Given the description of an element on the screen output the (x, y) to click on. 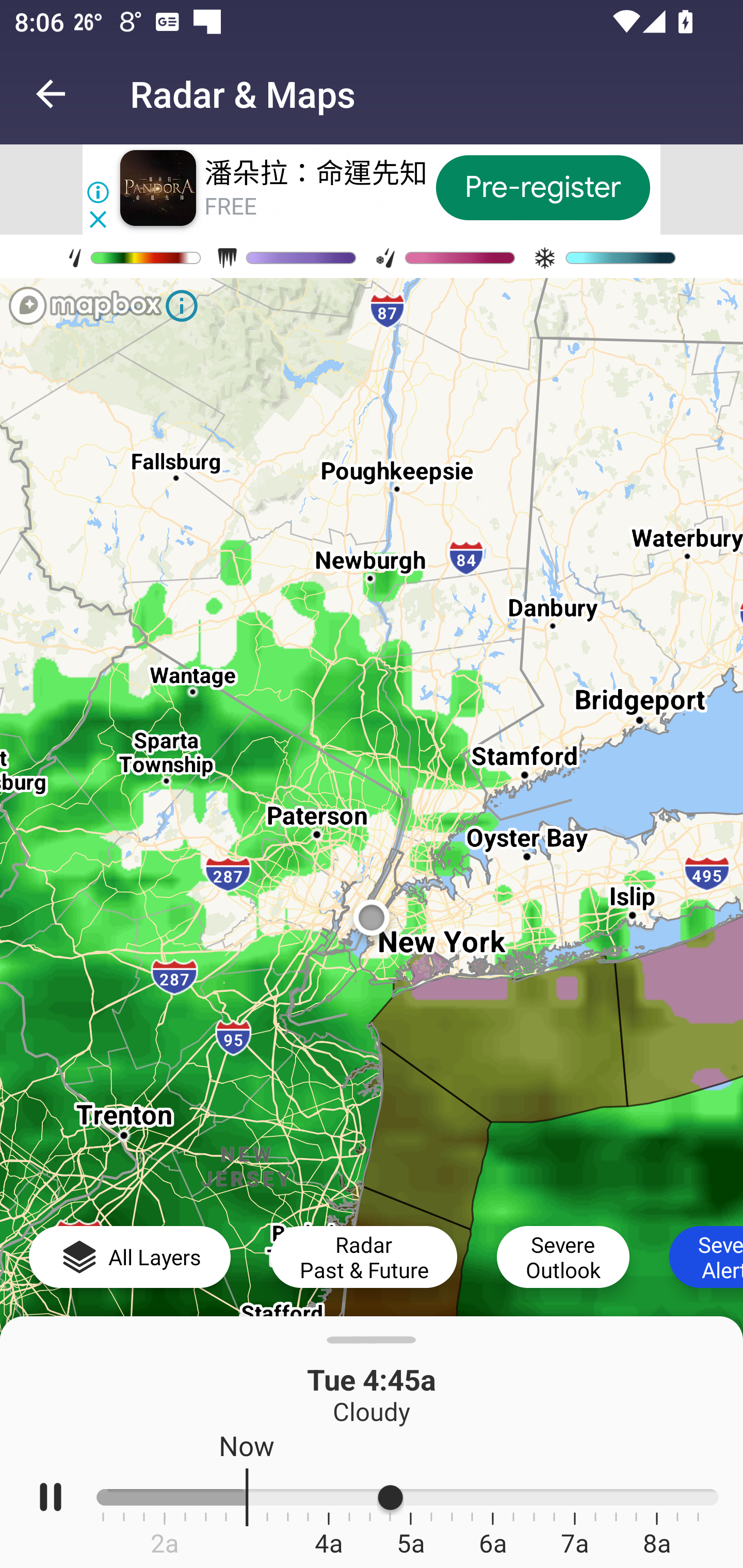
Navigate up (50, 93)
潘朵拉：命運先知 (316, 173)
Pre-register (542, 187)
FREE (230, 206)
All Layers (129, 1256)
Radar
Past & Future Radar Past & Future (363, 1256)
Severe
Outlook Severe Outlook (563, 1256)
Pause (50, 1497)
